Given the description of an element on the screen output the (x, y) to click on. 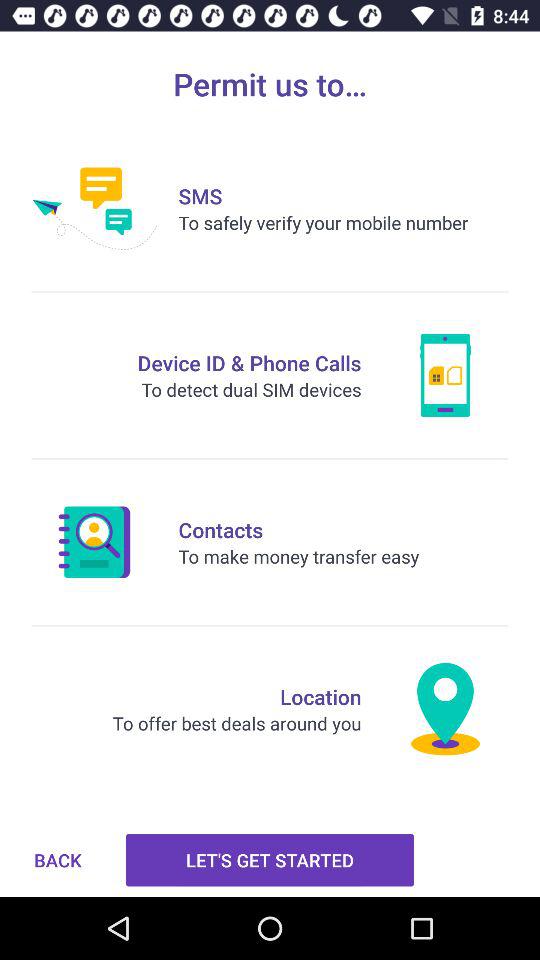
click the icon to the right of back (269, 859)
